Given the description of an element on the screen output the (x, y) to click on. 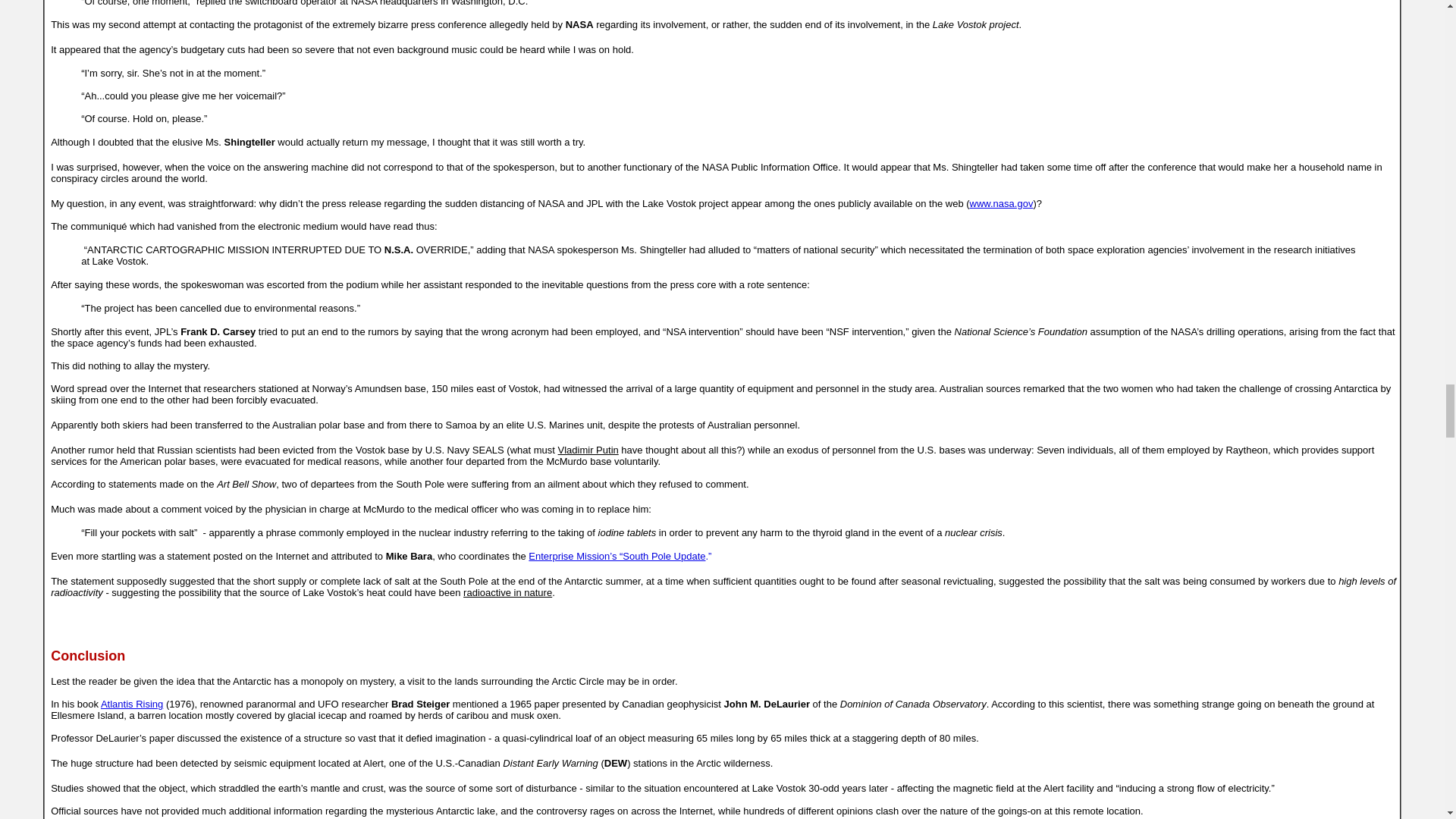
Atlantis Rising (131, 704)
www.nasa.gov (1001, 203)
